Given the description of an element on the screen output the (x, y) to click on. 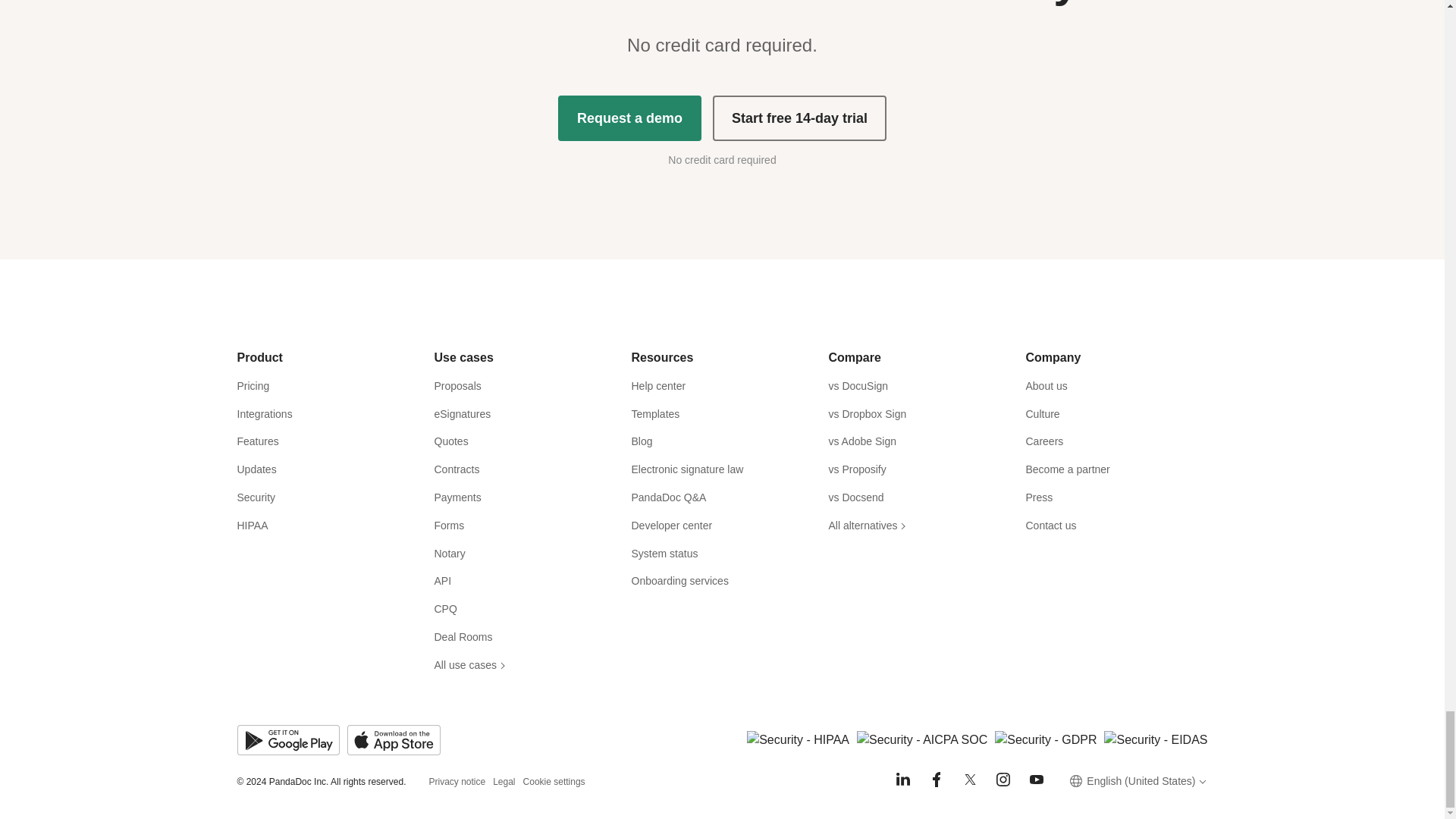
Youtube (1036, 779)
LinkedIn (902, 779)
Twitter (969, 779)
Facebook (935, 779)
Instagram (1002, 779)
